Given the description of an element on the screen output the (x, y) to click on. 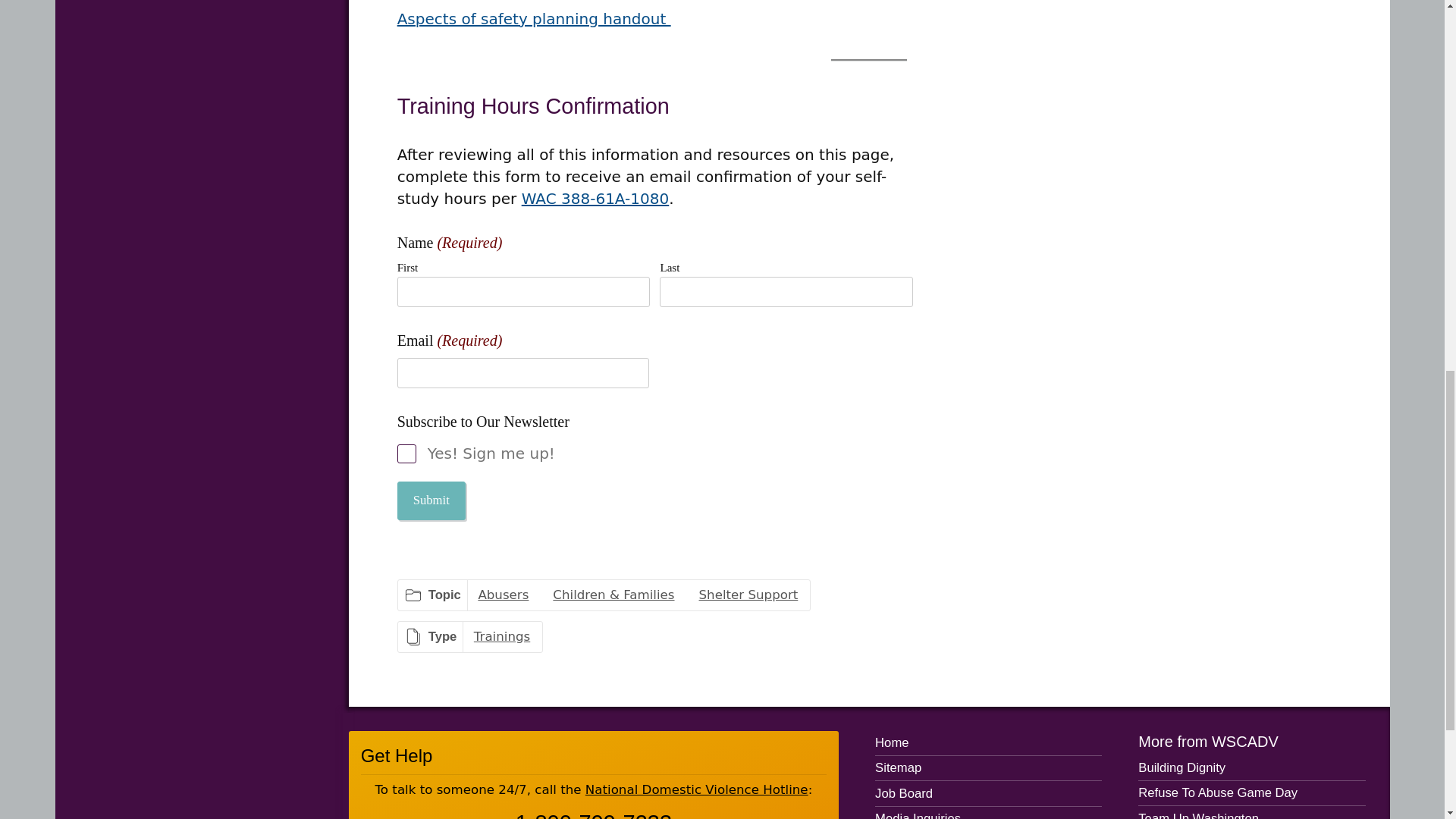
Submit (431, 500)
